Given the description of an element on the screen output the (x, y) to click on. 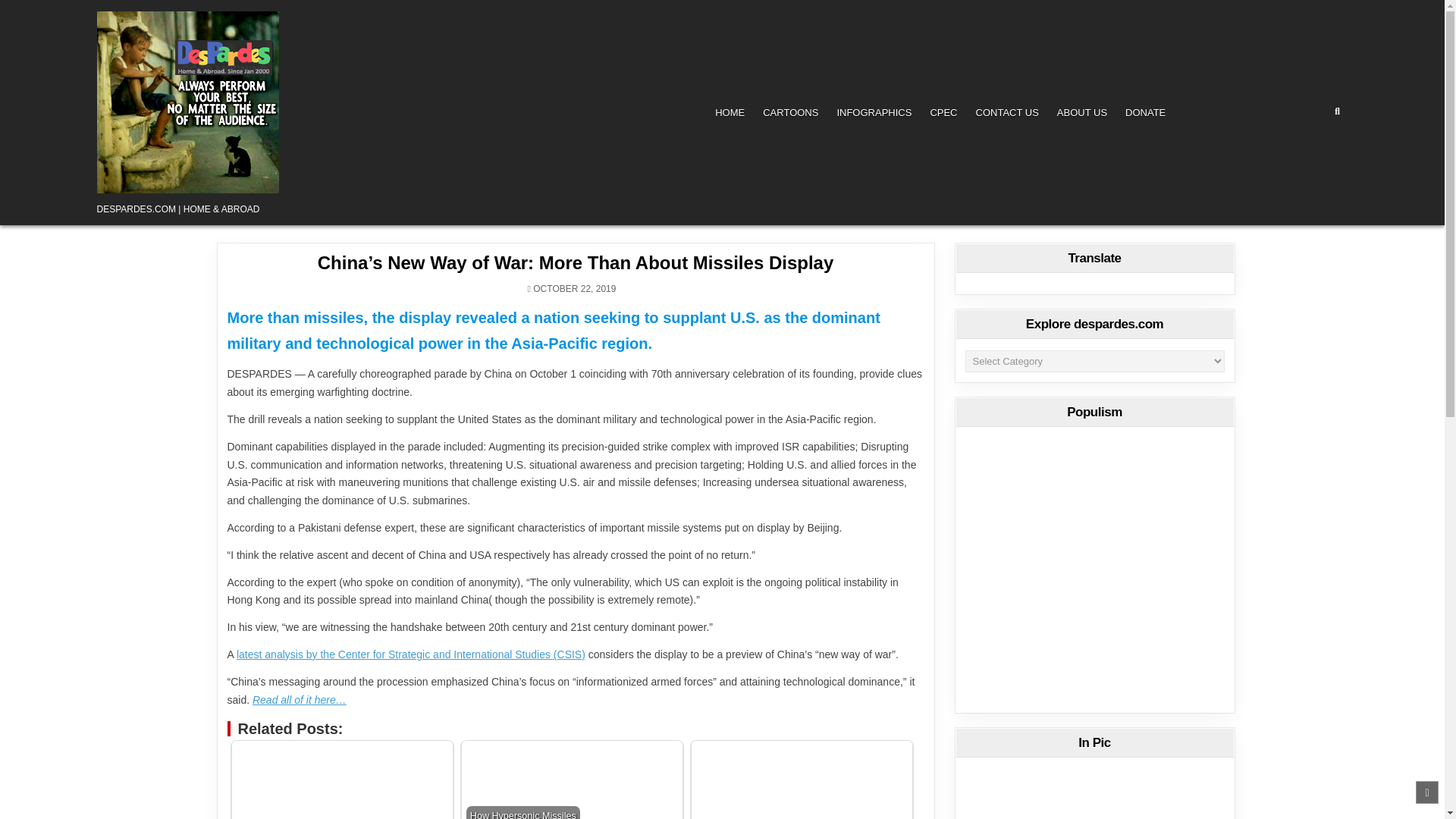
CPEC (943, 112)
HOME (730, 112)
CONTACT US (1007, 112)
Story in Pictures (1093, 794)
DONATE (1145, 112)
SCROLL TO TOP (1426, 792)
ABOUT US (1082, 112)
CARTOONS (790, 112)
In Pic (1093, 567)
